Given the description of an element on the screen output the (x, y) to click on. 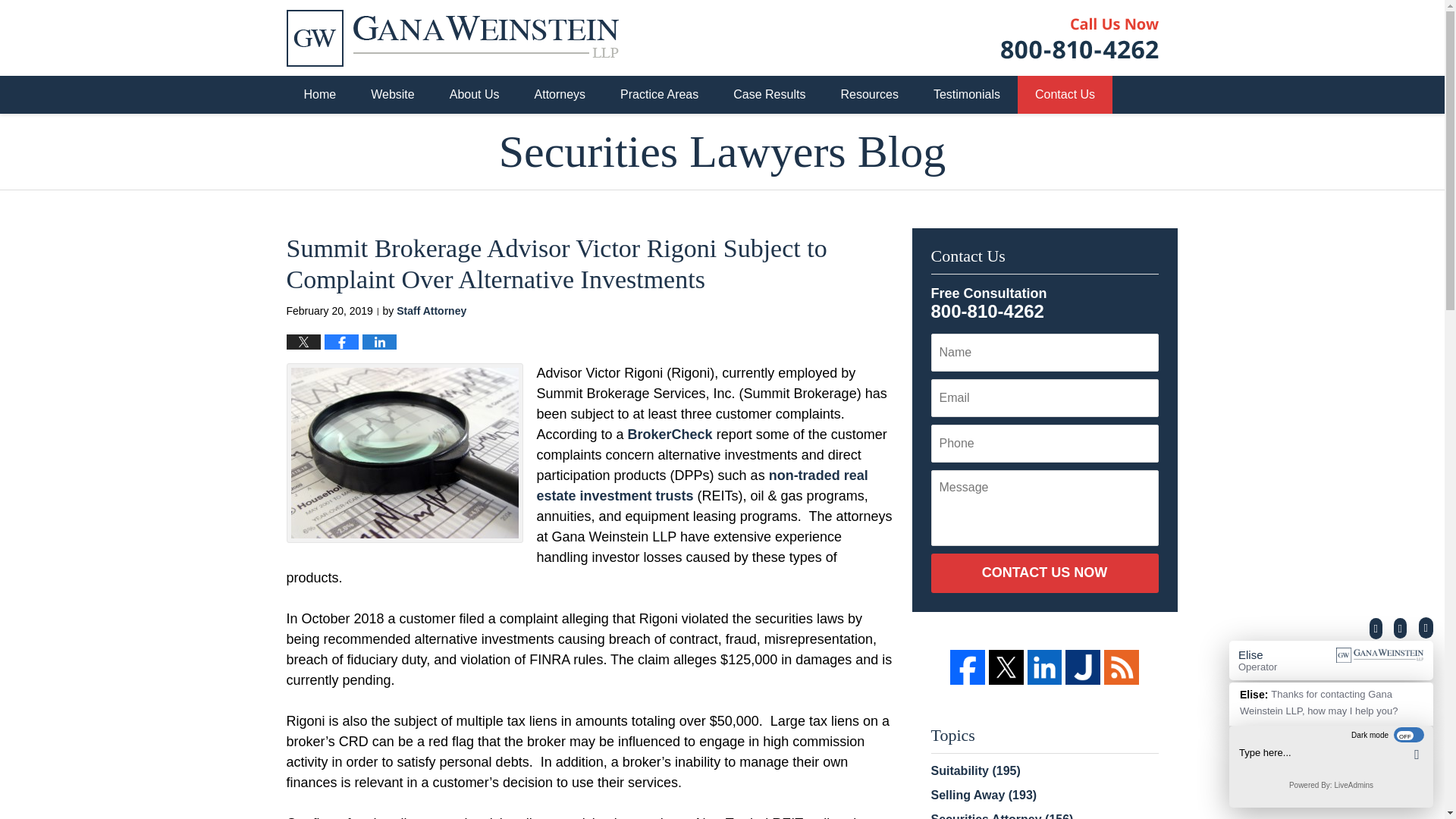
BrokerCheck (671, 434)
Justia (1082, 667)
non-traded real estate investment trusts (702, 485)
Case Results (769, 94)
Practice Areas (659, 94)
Resources (868, 94)
Attorneys (560, 94)
Contact Us (1064, 94)
Feed (1120, 667)
LinkedIn (1044, 667)
Twitter (1005, 667)
Published By Gana Weinstein LLP (1079, 37)
Securities Lawyers Blog (722, 151)
About Us (474, 94)
Please enter a valid phone number. (1044, 443)
